Given the description of an element on the screen output the (x, y) to click on. 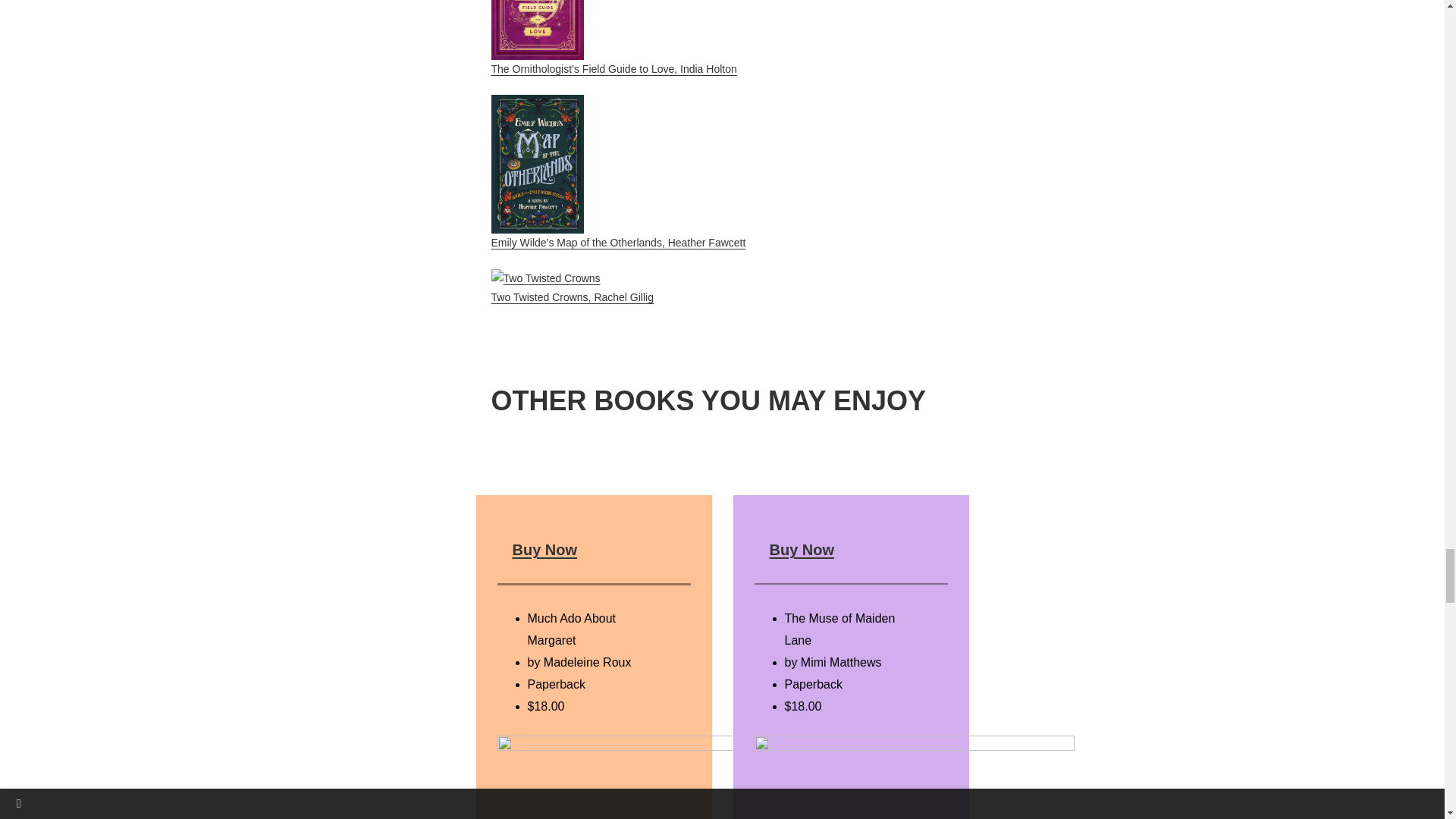
Two Twisted Crowns, Rachel Gillig (572, 287)
Two Twisted Crowns (545, 278)
The Ornithologist's Field Guide to Love (537, 29)
